Given the description of an element on the screen output the (x, y) to click on. 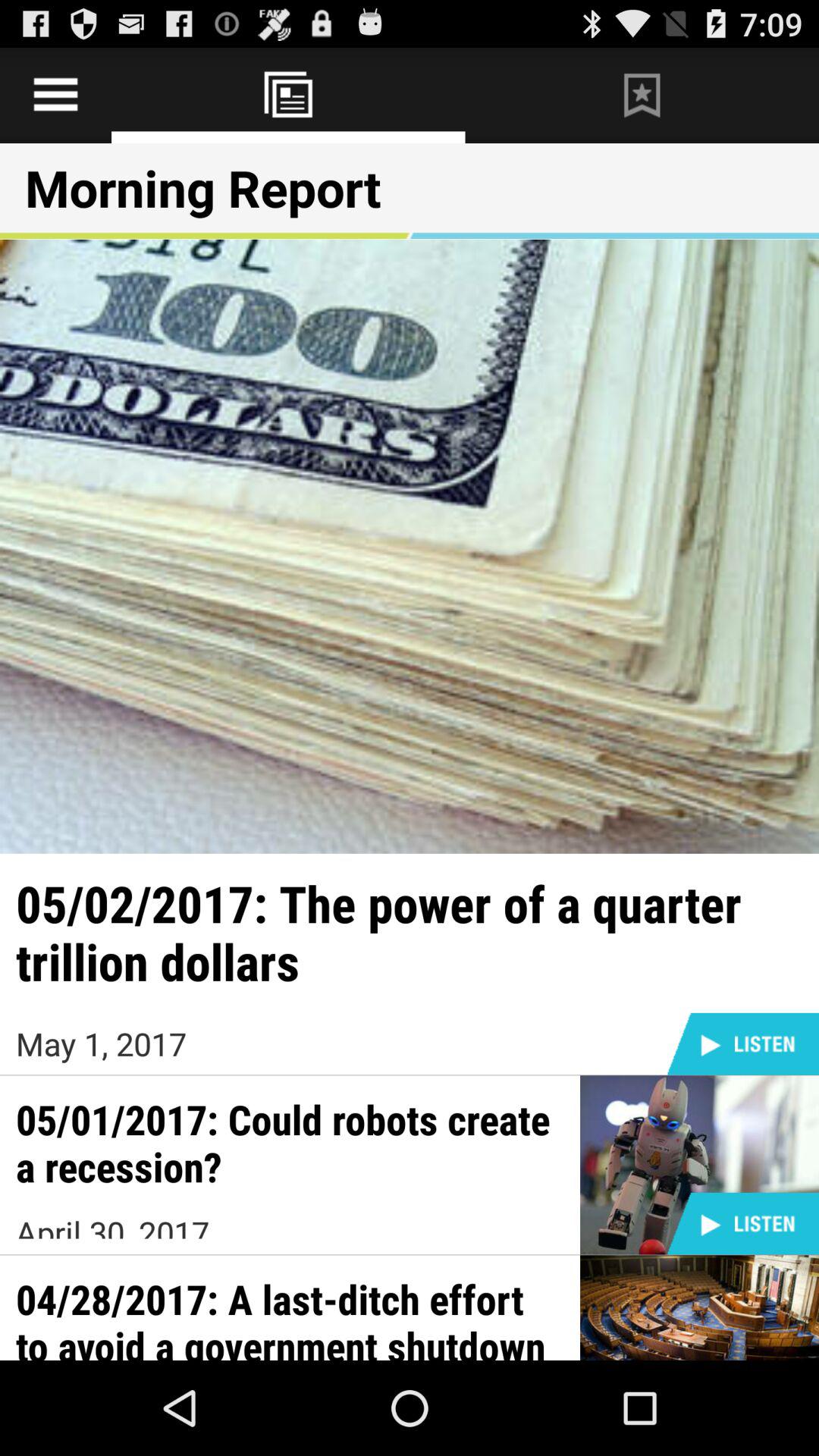
get bookmarks (642, 95)
